Given the description of an element on the screen output the (x, y) to click on. 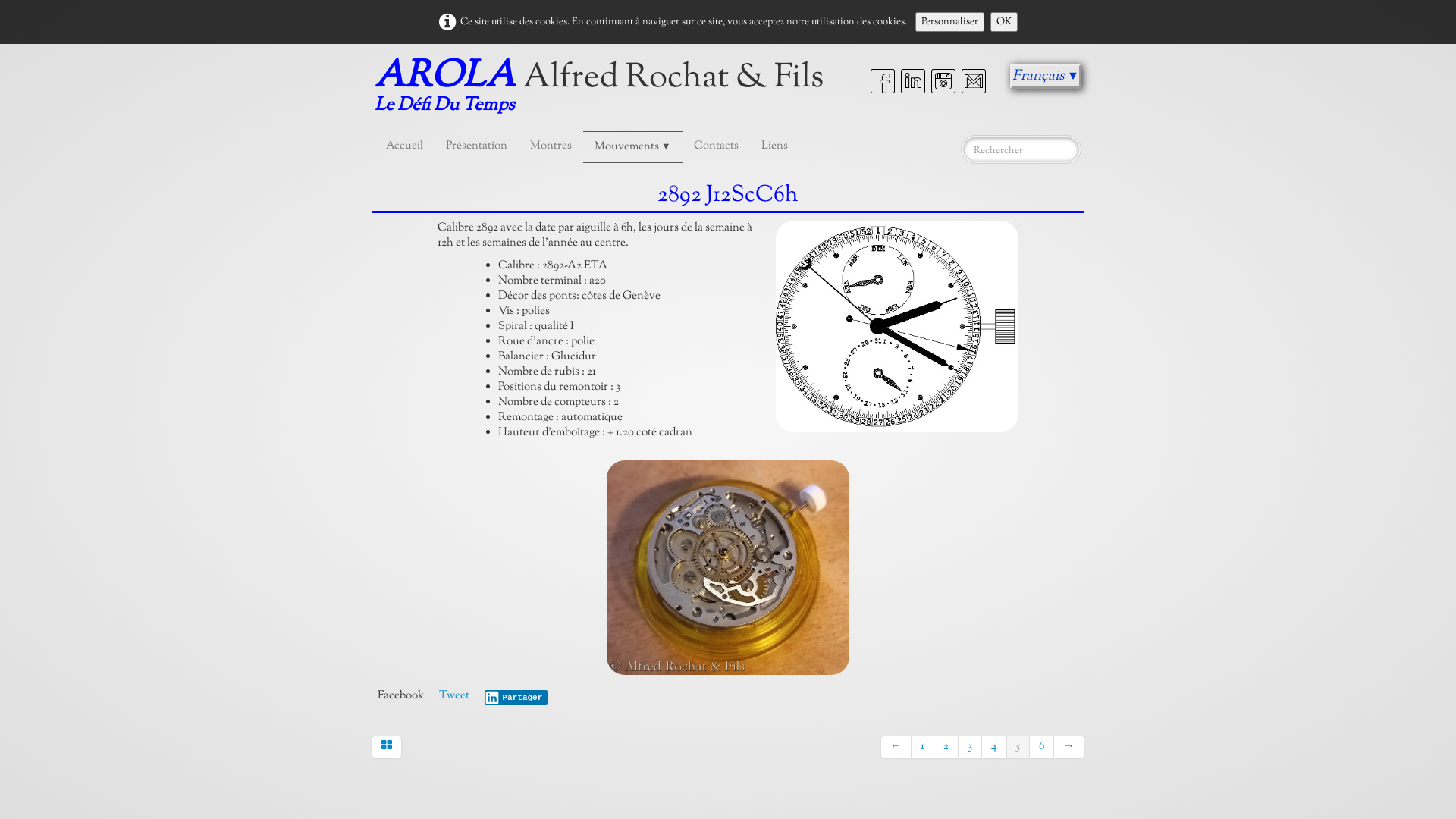
Accueil Element type: text (404, 146)
5 Element type: text (1018, 746)
3 Element type: text (970, 746)
Contacts Element type: text (715, 146)
6 Element type: text (1041, 746)
Mouvement automatique AROLA 2892 J12ScC6h Element type: hover (896, 326)
2892 J12ScC6h Element type: hover (727, 567)
Montres Element type: text (550, 146)
2 Element type: text (946, 746)
Tweet Element type: text (454, 695)
Liens Element type: text (774, 146)
OK Element type: text (1003, 21)
4 Element type: text (994, 746)
1 Element type: text (922, 746)
Personnaliser Element type: text (948, 21)
Partager Element type: text (515, 697)
